Given the description of an element on the screen output the (x, y) to click on. 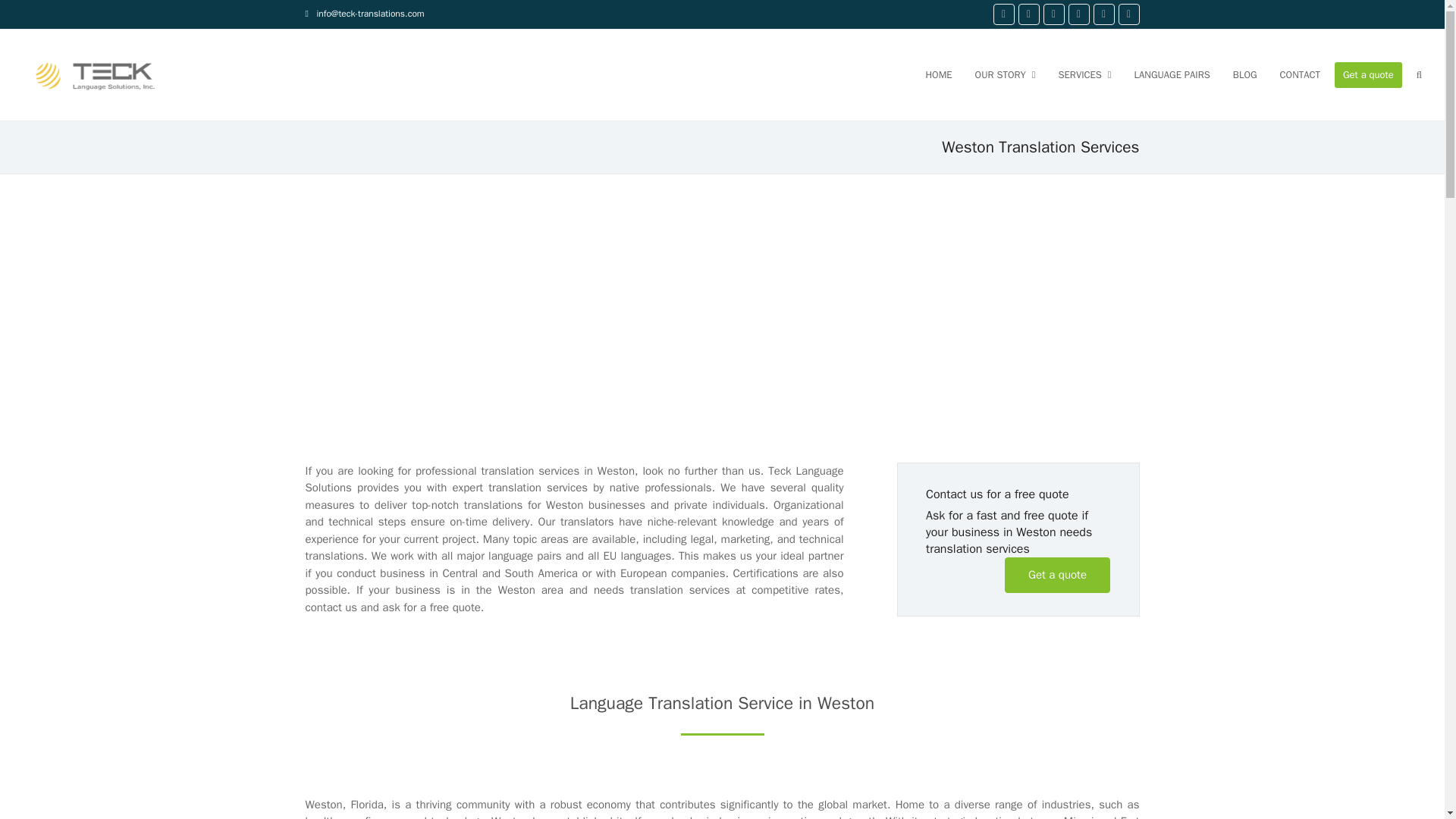
Facebook (1003, 14)
Get a quote (1056, 574)
YouTube (1104, 14)
LinkedIn (1053, 14)
Yelp (1078, 14)
LANGUAGE PAIRS (1171, 74)
Twitter (1028, 14)
OUR STORY (1004, 74)
Email (1128, 14)
